Given the description of an element on the screen output the (x, y) to click on. 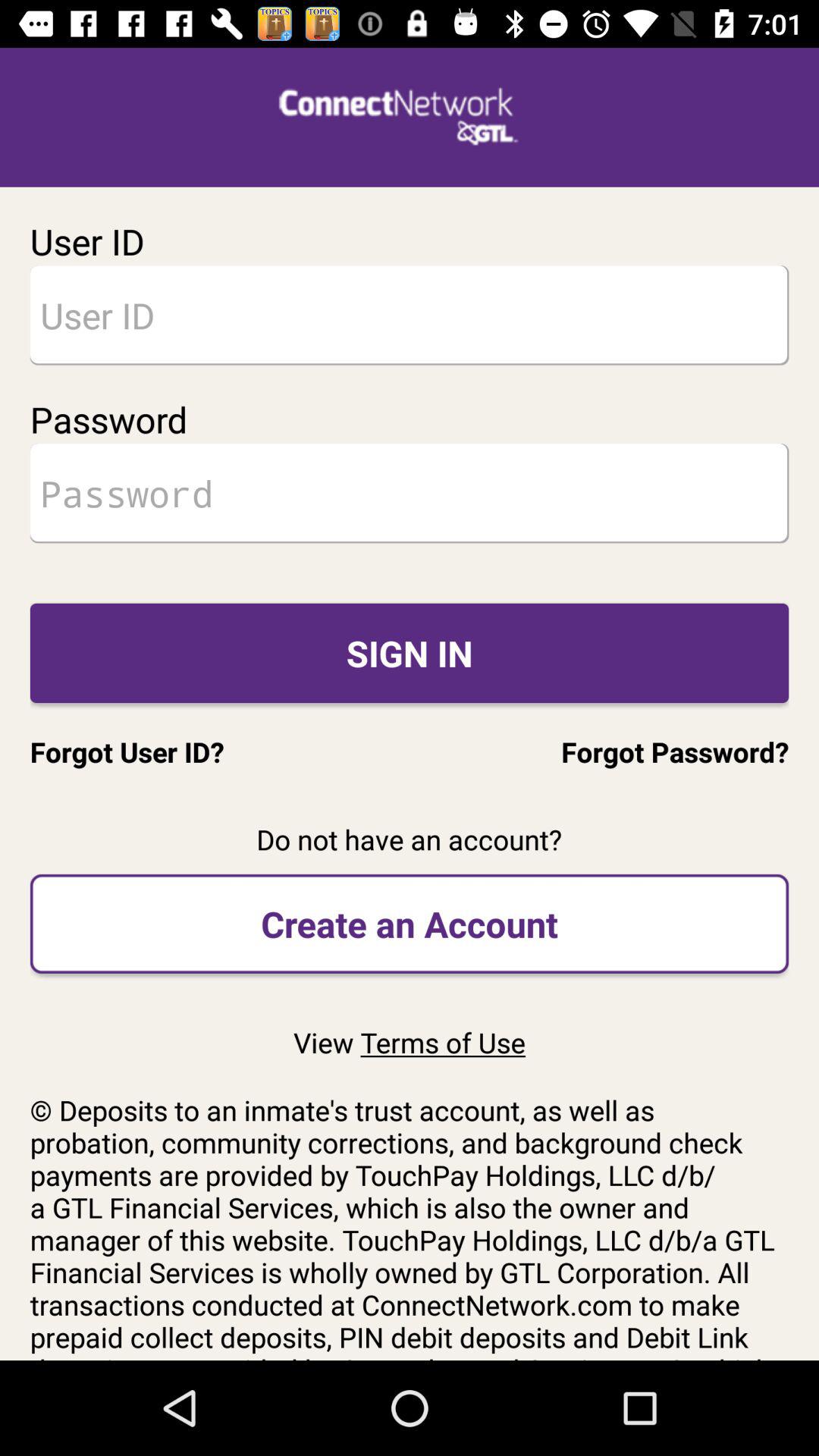
flip until view terms of (409, 1042)
